Given the description of an element on the screen output the (x, y) to click on. 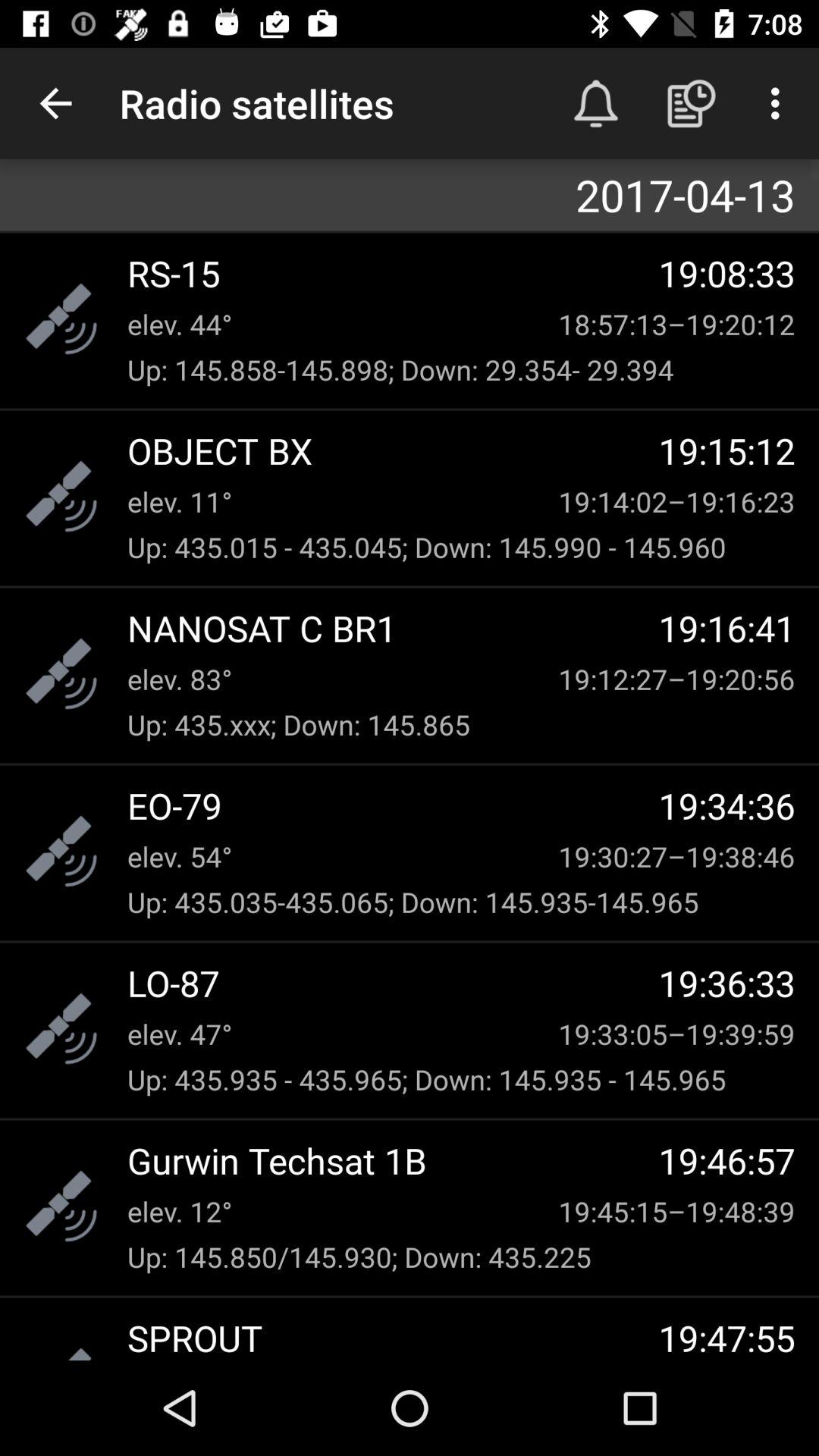
press the item next to 19:15:12 item (392, 450)
